Given the description of an element on the screen output the (x, y) to click on. 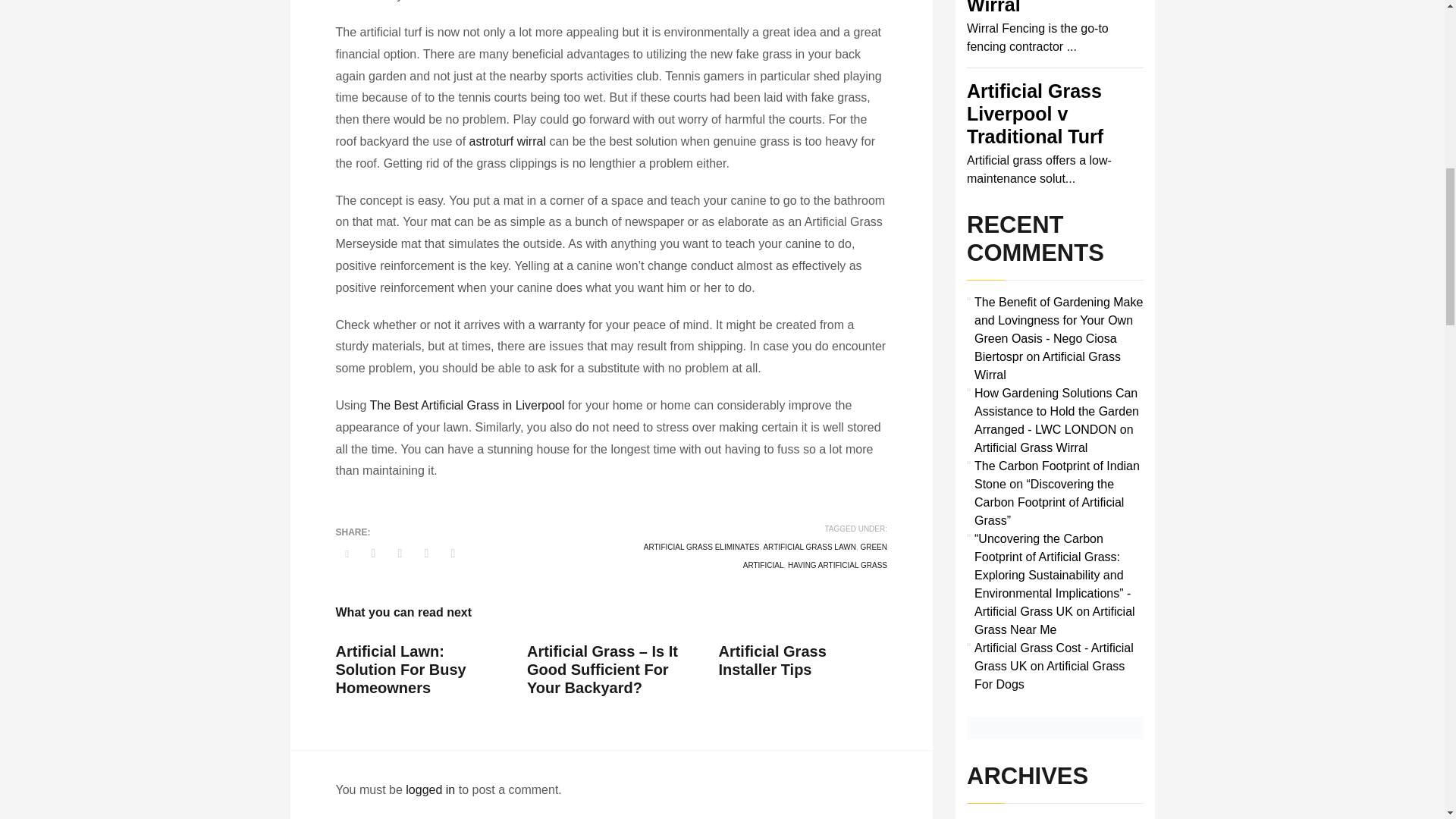
SHARE ON MAIL (452, 553)
SHARE ON PINTEREST (426, 553)
SHARE ON TWITTER (346, 553)
SHARE ON GPLUS (399, 553)
SHARE ON FACEBOOK (373, 553)
Artificial Grass Liverpool v Traditional Turf (1034, 113)
